Given the description of an element on the screen output the (x, y) to click on. 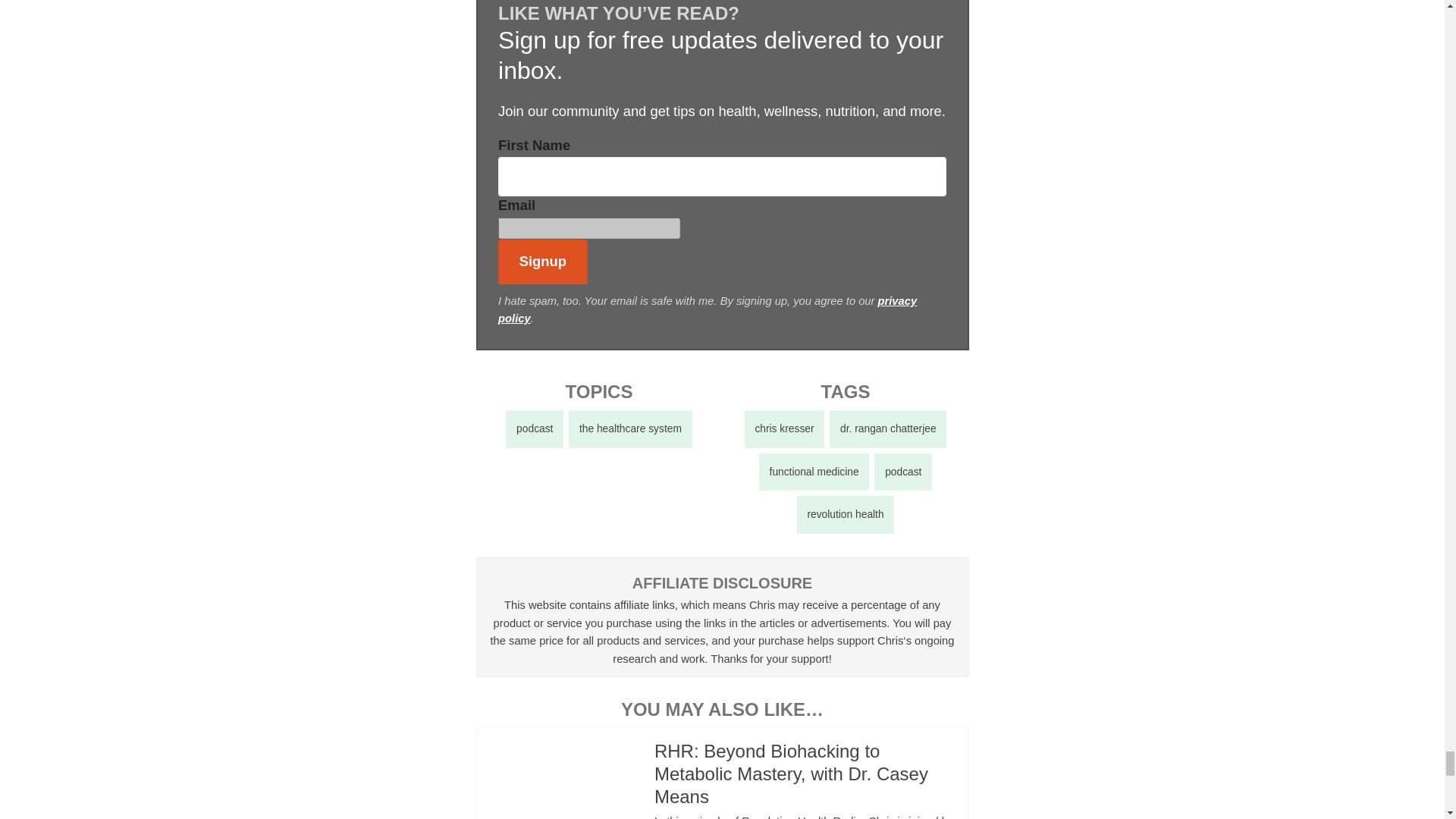
Signup (542, 261)
